Given the description of an element on the screen output the (x, y) to click on. 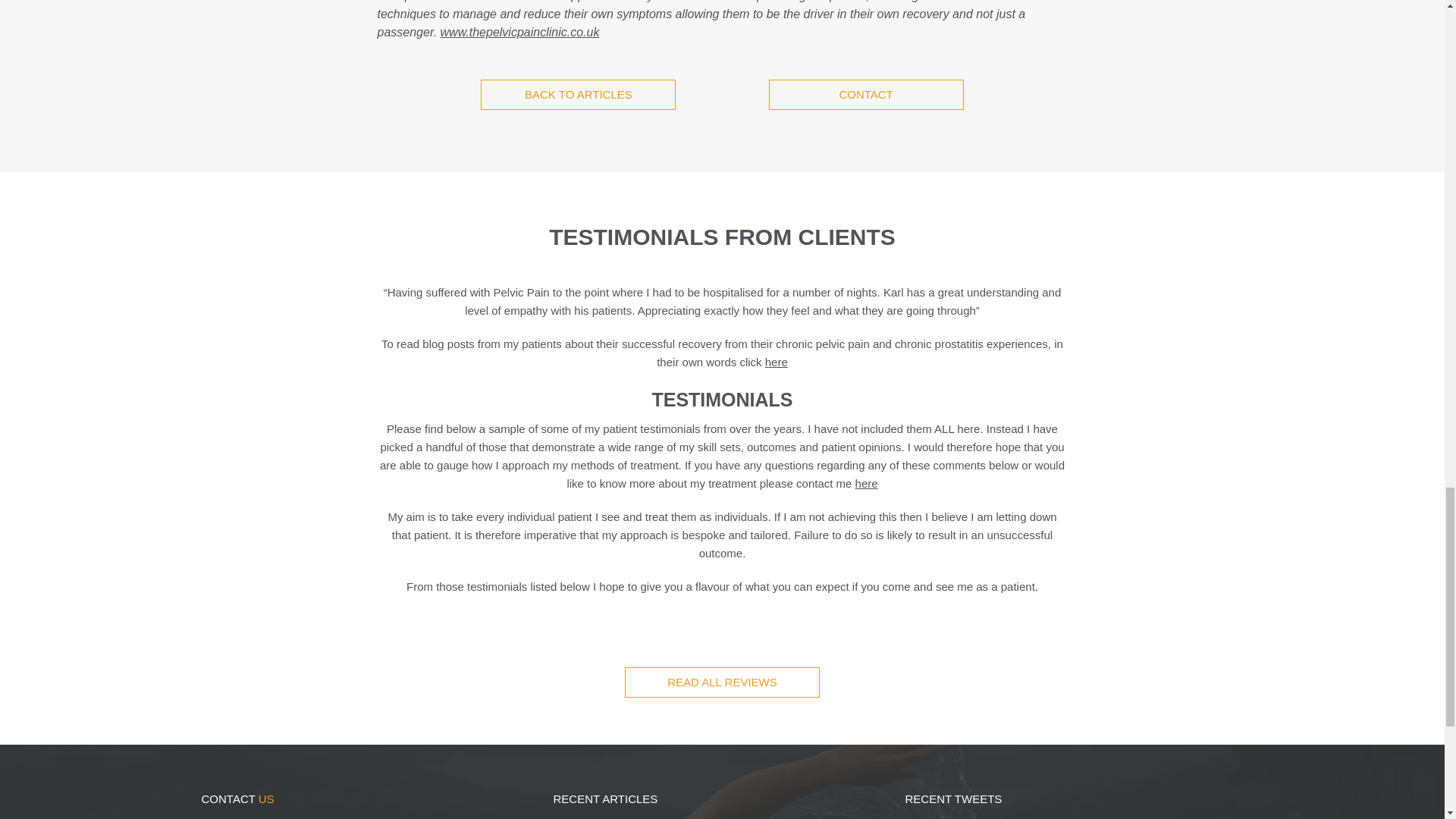
here (776, 361)
www.thepelvicpainclinic.co.uk (520, 31)
here (866, 481)
READ ALL REVIEWS (721, 682)
CONTACT (865, 94)
BACK TO ARTICLES (577, 94)
